Given the description of an element on the screen output the (x, y) to click on. 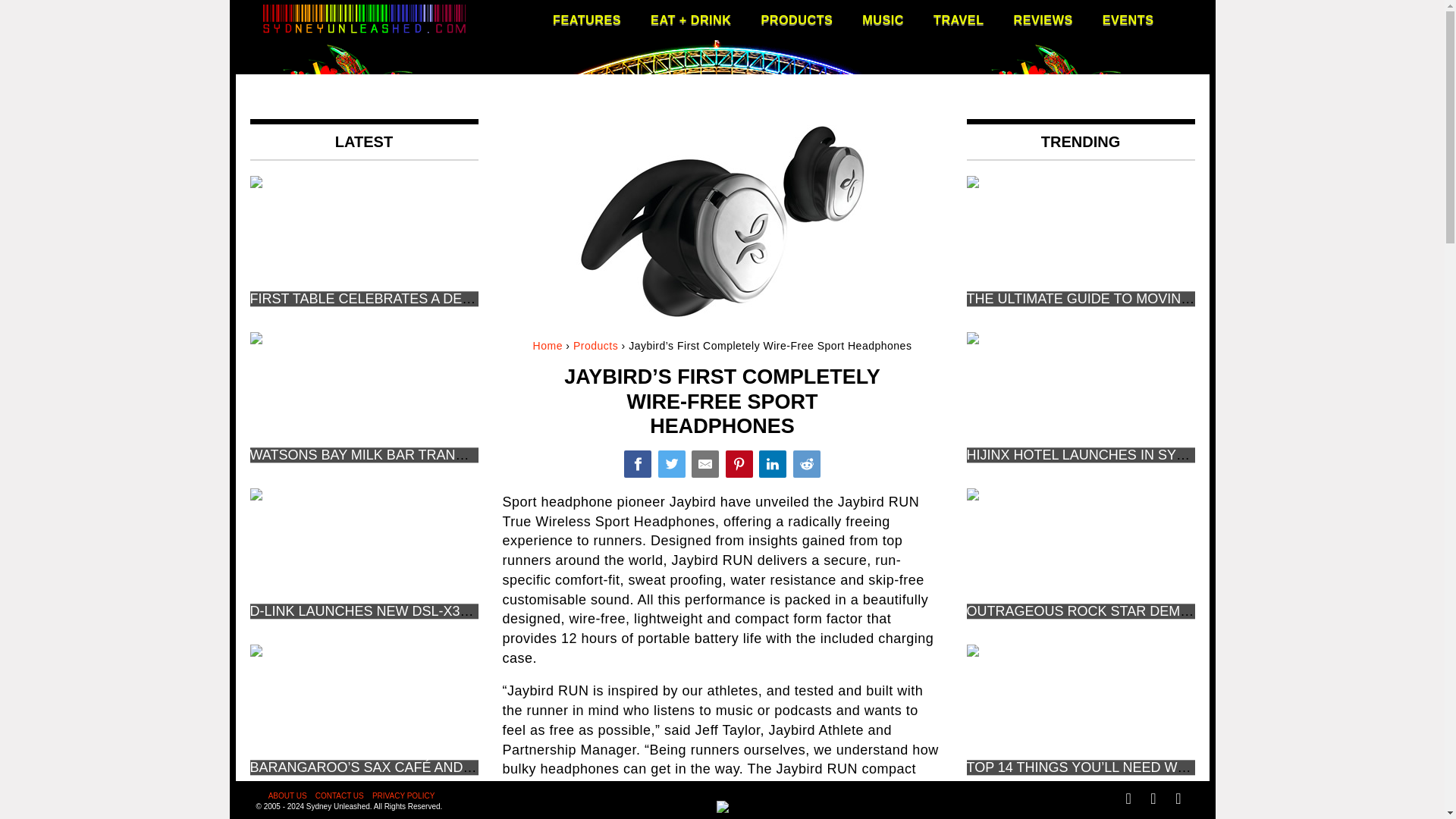
FEATURES (586, 19)
EVENTS (1128, 19)
REVIEWS (1043, 19)
Products (595, 345)
Pinterest (738, 463)
MUSIC (882, 19)
TRAVEL (958, 19)
Home (547, 345)
PRODUCTS (796, 19)
